Given the description of an element on the screen output the (x, y) to click on. 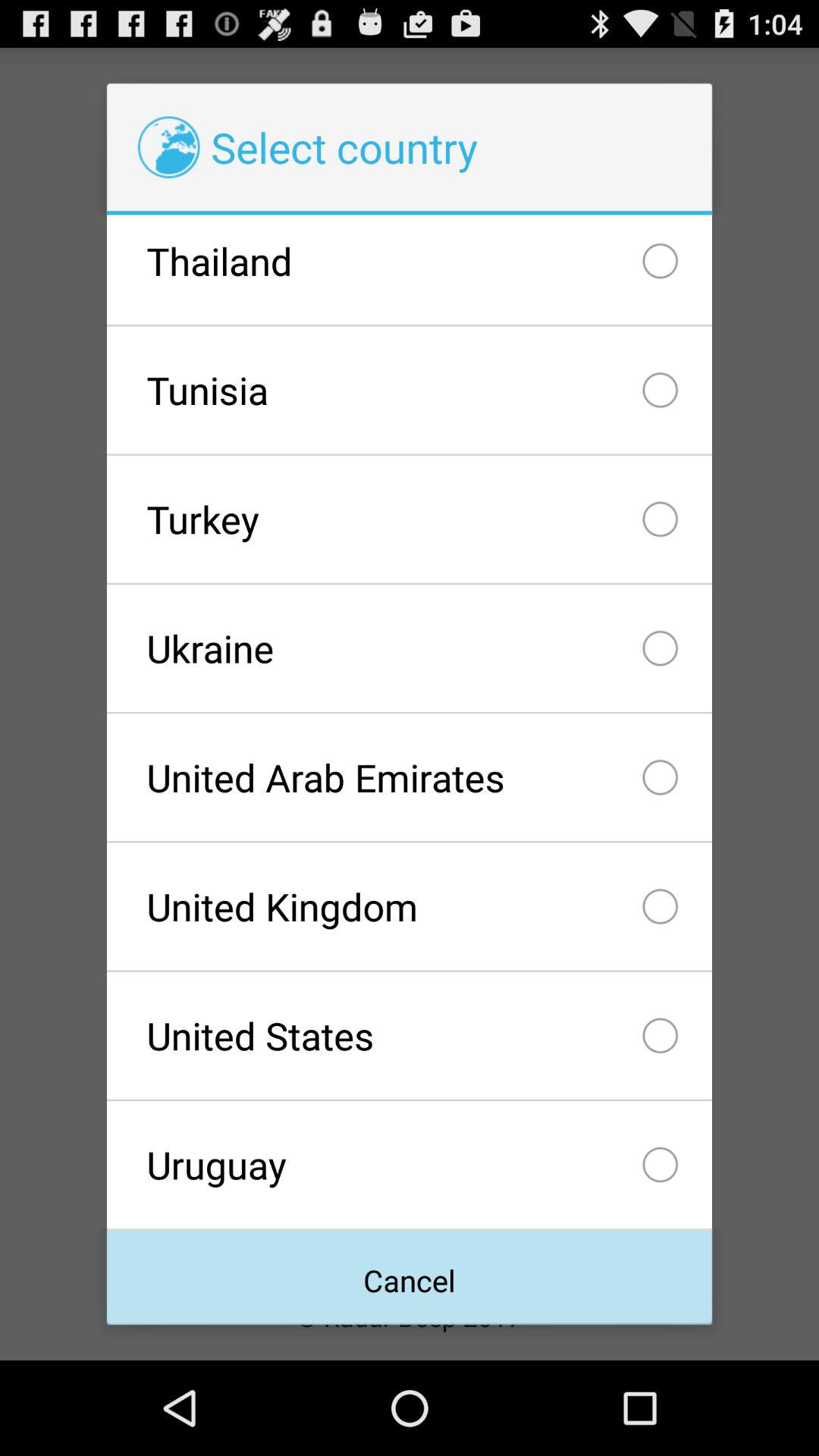
open the checkbox above uruguay icon (409, 1035)
